Given the description of an element on the screen output the (x, y) to click on. 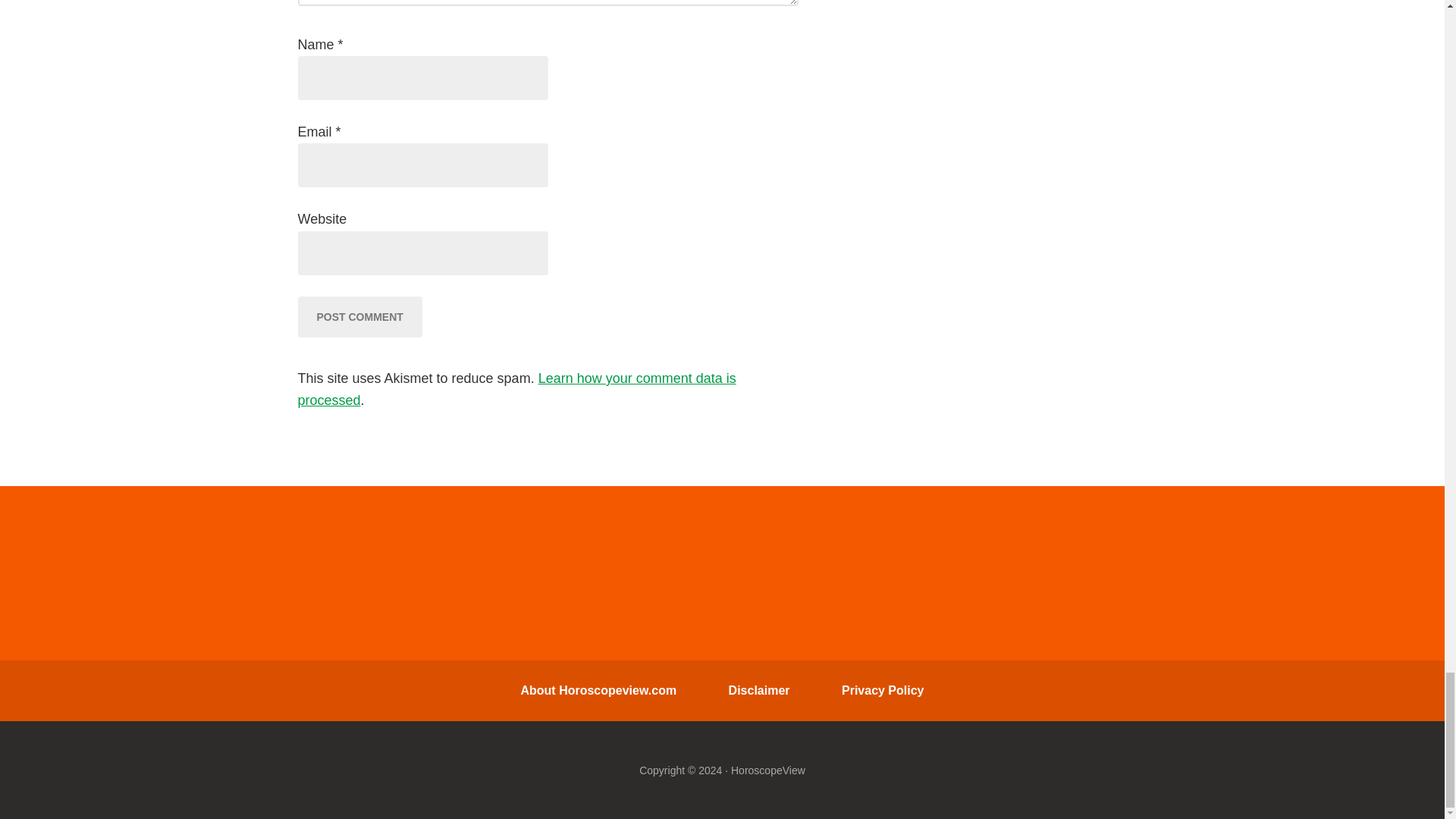
Learn how your comment data is processed (516, 389)
Post Comment (359, 316)
Post Comment (359, 316)
